Given the description of an element on the screen output the (x, y) to click on. 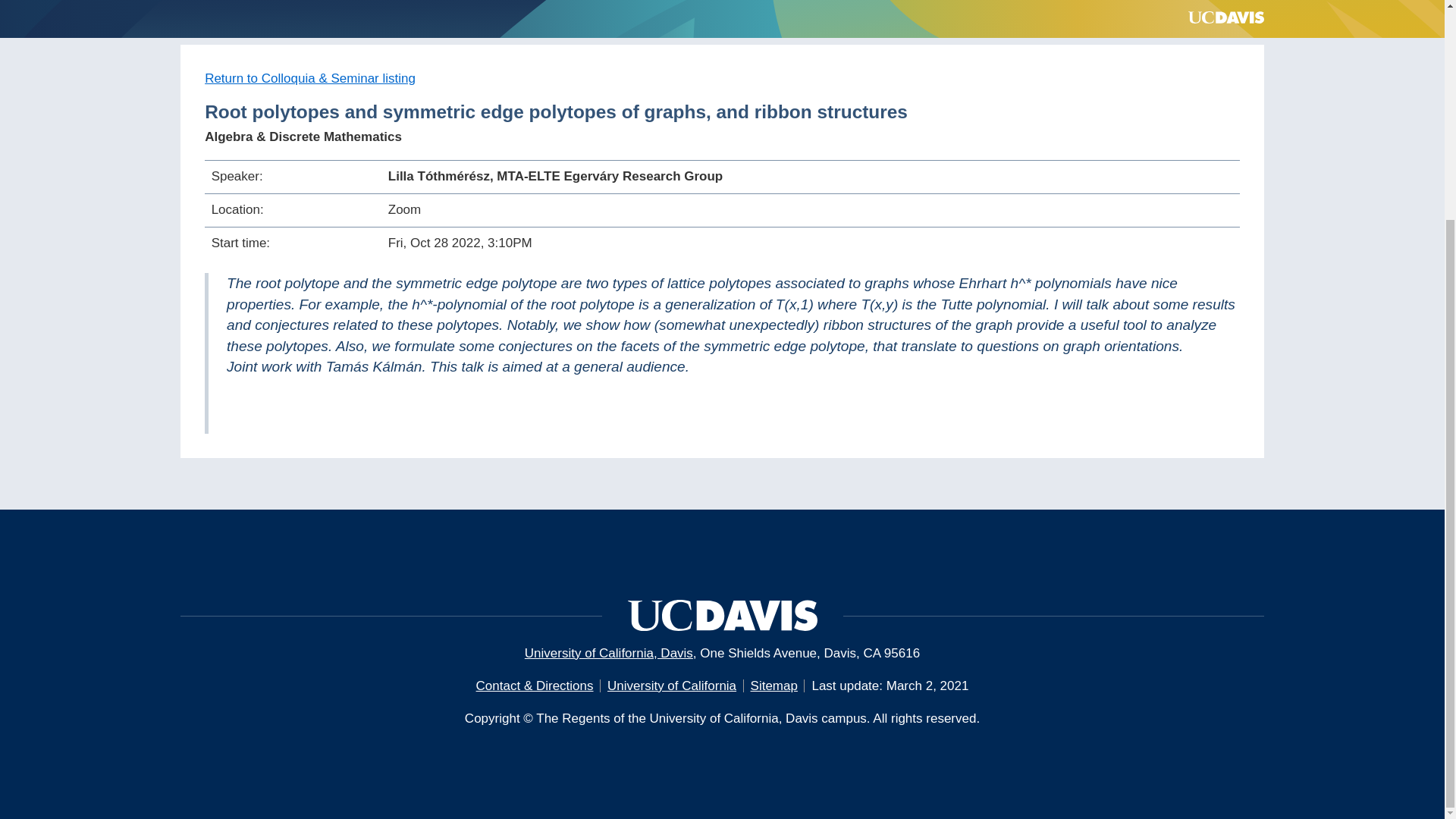
Search (1405, 117)
